Given the description of an element on the screen output the (x, y) to click on. 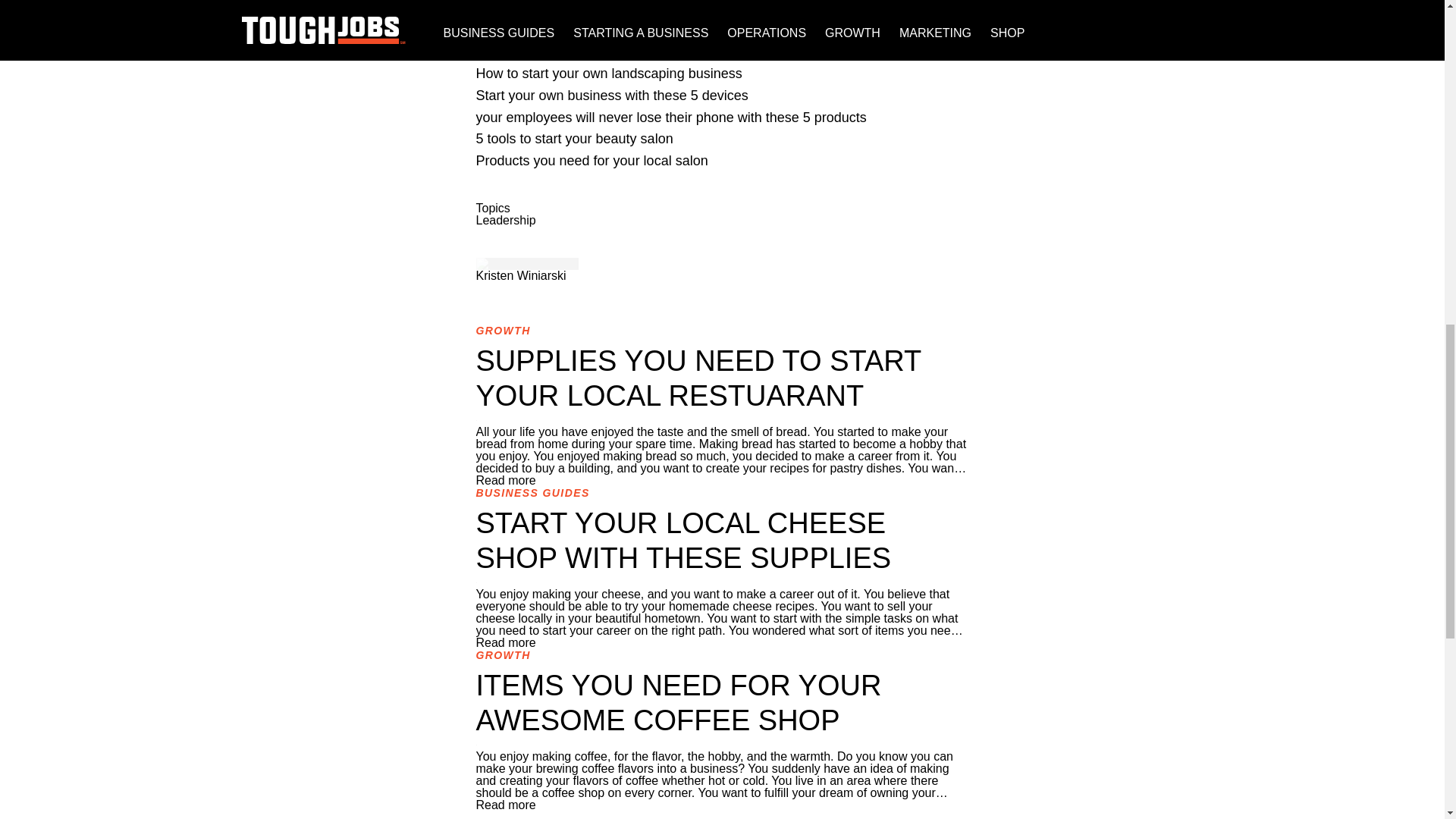
Start your own business with these 5 devices (612, 95)
GROWTH (503, 654)
5 tools to start your beauty salon (574, 138)
BUSINESS GUIDES (532, 492)
GROWTH (503, 330)
How to start your own landscaping business (609, 73)
Read more (505, 480)
Email (722, 287)
Read more (505, 804)
Leadership (505, 219)
Read more (505, 642)
Products you need for your local salon (591, 160)
Kristen Winiarski (521, 275)
